Given the description of an element on the screen output the (x, y) to click on. 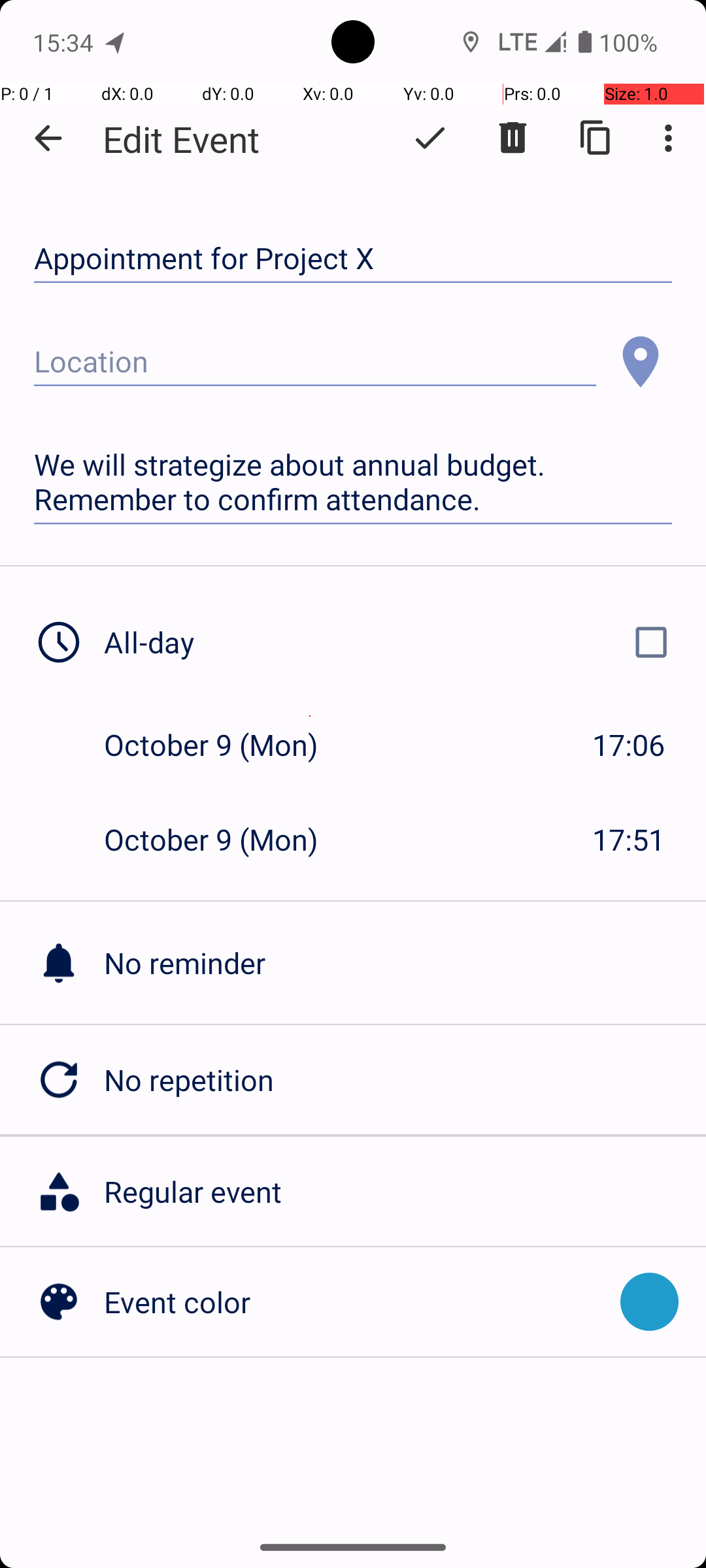
We will strategize about annual budget. Remember to confirm attendance. Element type: android.widget.EditText (352, 482)
October 9 (Mon) Element type: android.widget.TextView (224, 744)
17:06 Element type: android.widget.TextView (628, 744)
17:51 Element type: android.widget.TextView (628, 838)
